Given the description of an element on the screen output the (x, y) to click on. 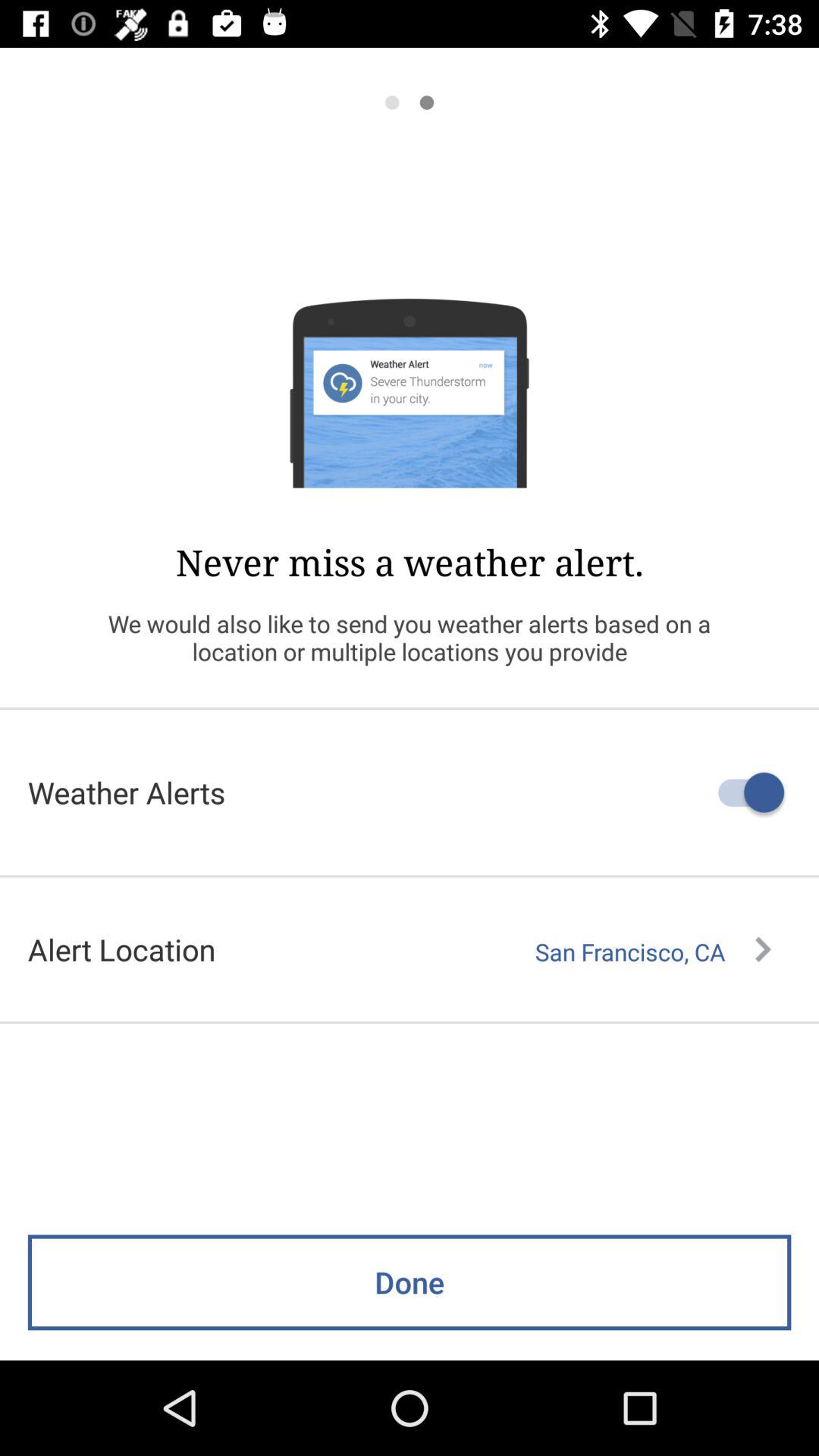
press san francisco, ca item (653, 951)
